Given the description of an element on the screen output the (x, y) to click on. 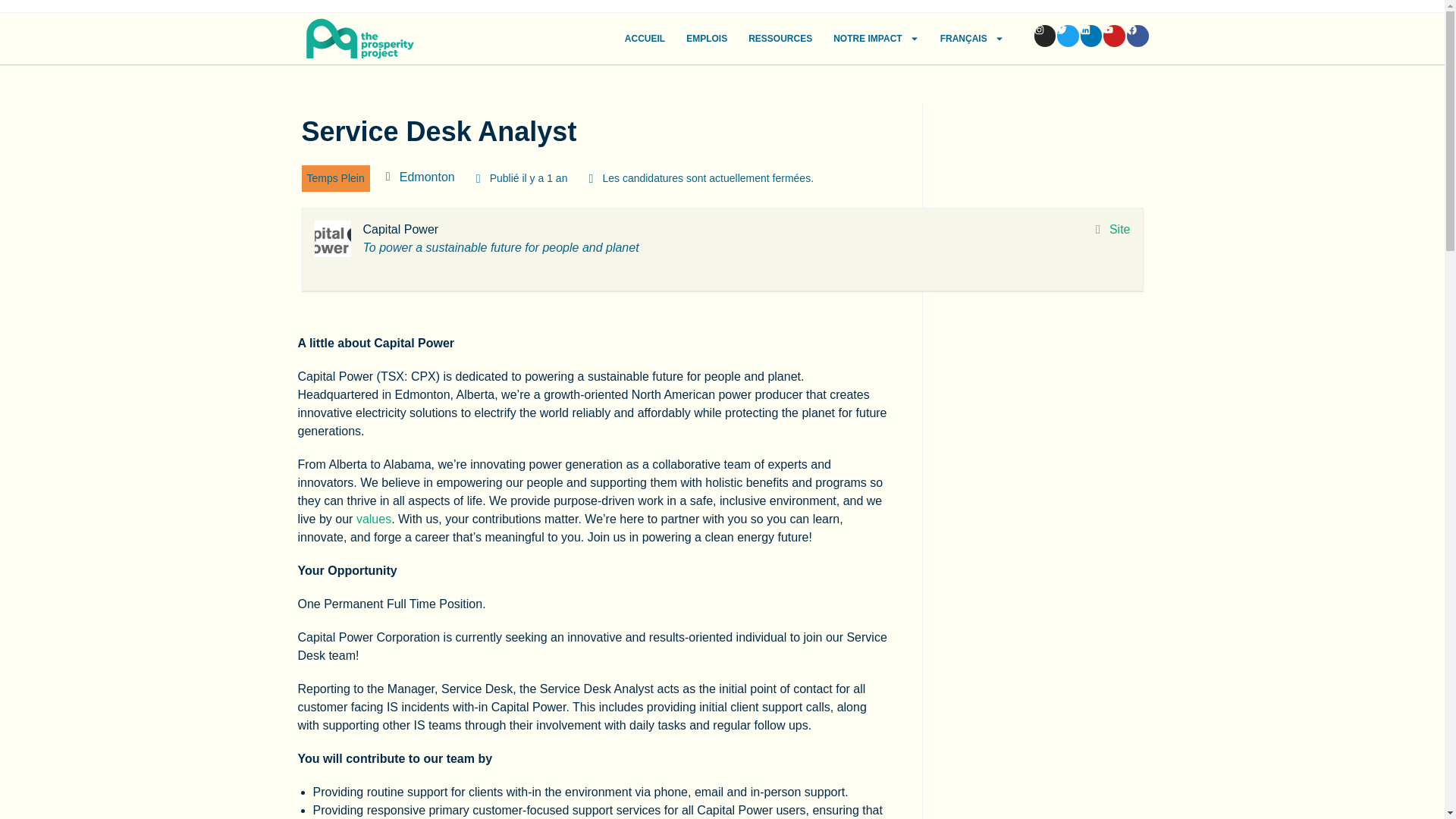
ACCUEIL (644, 38)
Site (1113, 229)
RESSOURCES (780, 38)
NOTRE IMPACT (875, 38)
values (373, 518)
Edmonton (426, 176)
EMPLOIS (706, 38)
